Given the description of an element on the screen output the (x, y) to click on. 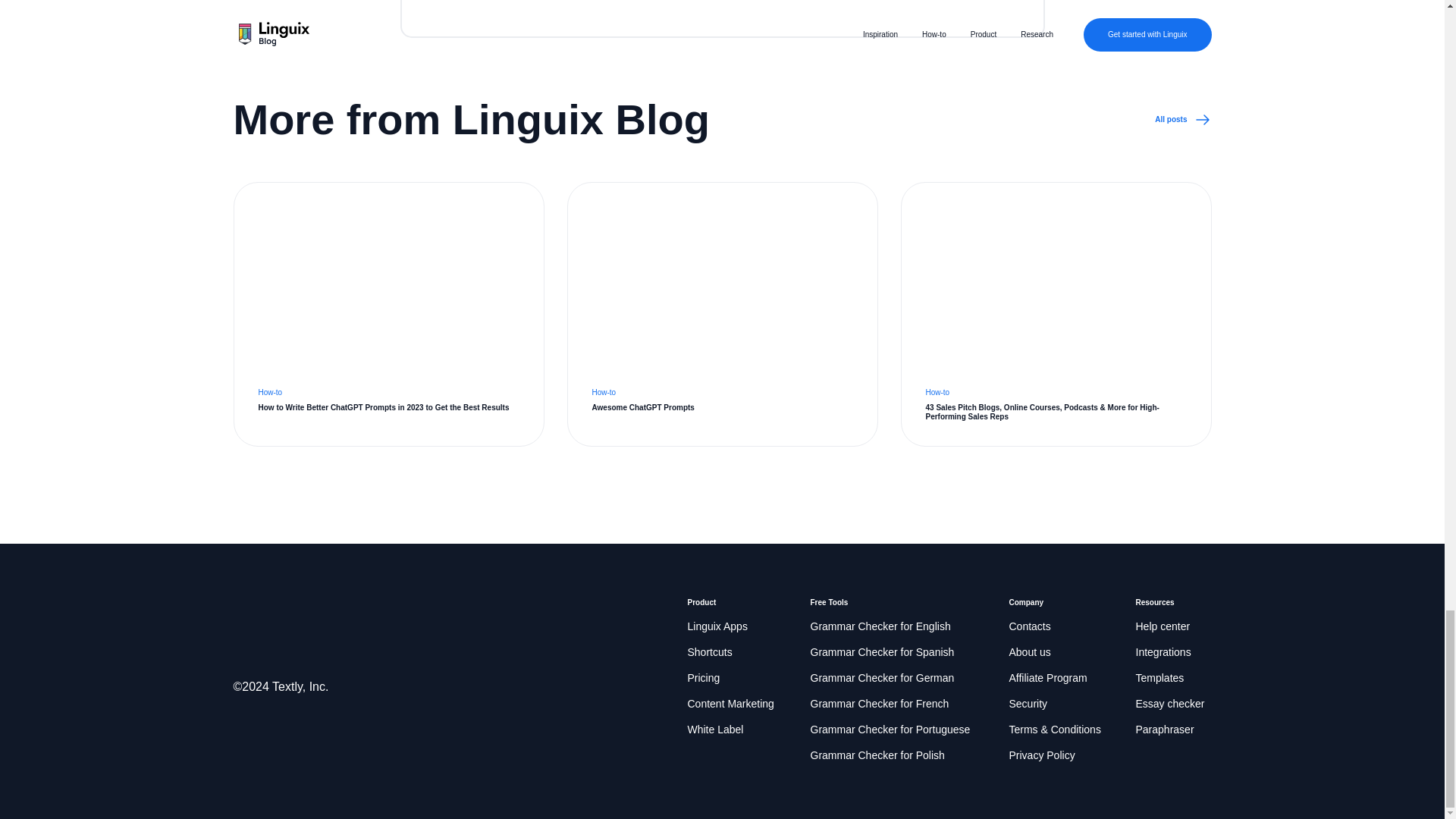
Grammar Checker for German (881, 678)
Free Tools (828, 602)
Grammar Checker for Polish (876, 755)
Grammar Checker for English (879, 627)
All posts (1182, 119)
Grammar Checker for French (879, 704)
Pricing (703, 678)
White Label (714, 729)
Resources (1154, 602)
Grammar Checker for Spanish (881, 652)
Company (1026, 602)
Linguix Apps (716, 627)
Essay checker (1170, 704)
Product (701, 602)
